Given the description of an element on the screen output the (x, y) to click on. 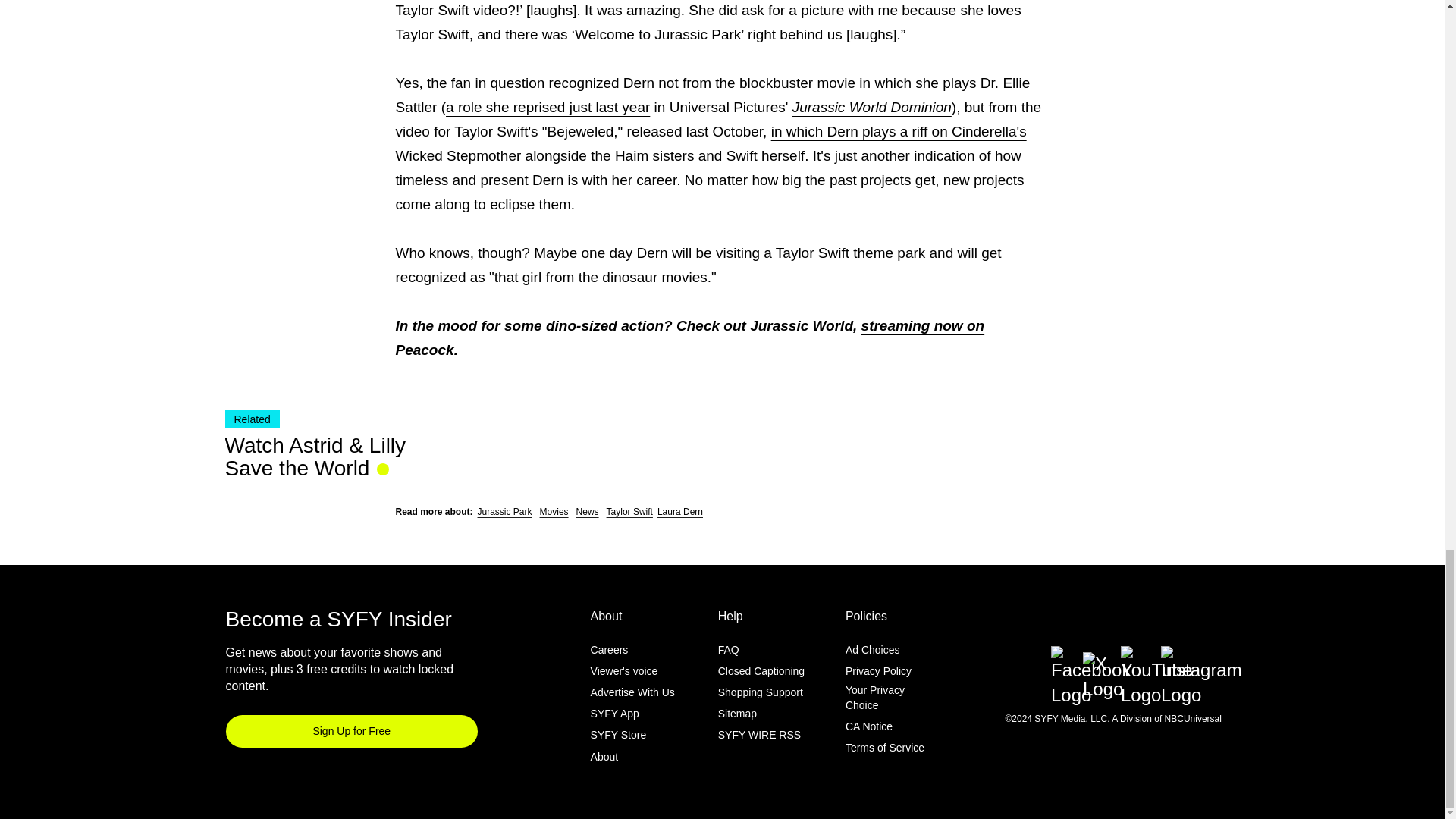
News (587, 511)
Taylor Swift (629, 511)
Movies (554, 511)
Advertise With Us (633, 692)
in which Dern plays a riff on Cinderella's Wicked Stepmother (711, 143)
Laura Dern (680, 511)
Peacock (425, 349)
streaming now on (923, 325)
Jurassic World Dominion (872, 107)
Jurassic Park (504, 511)
